Given the description of an element on the screen output the (x, y) to click on. 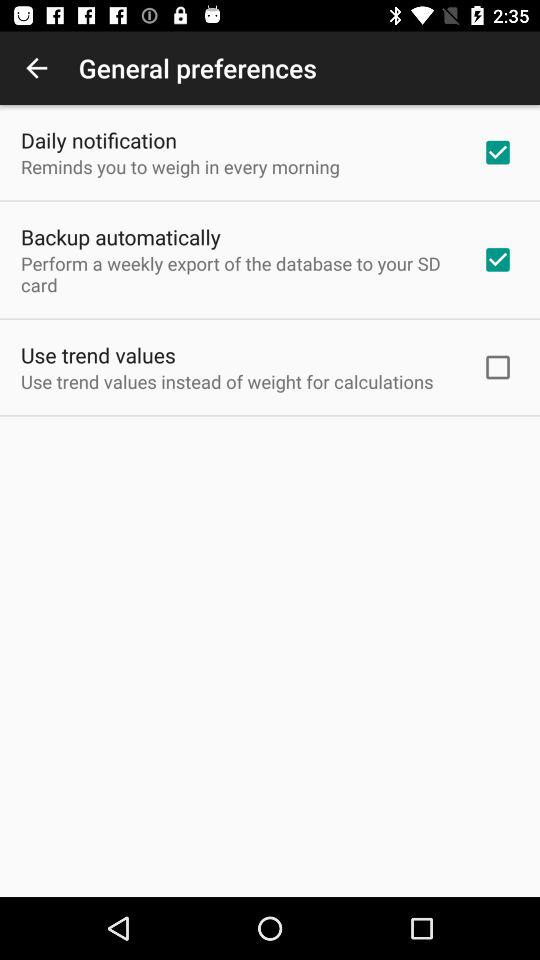
flip until the perform a weekly item (238, 274)
